Given the description of an element on the screen output the (x, y) to click on. 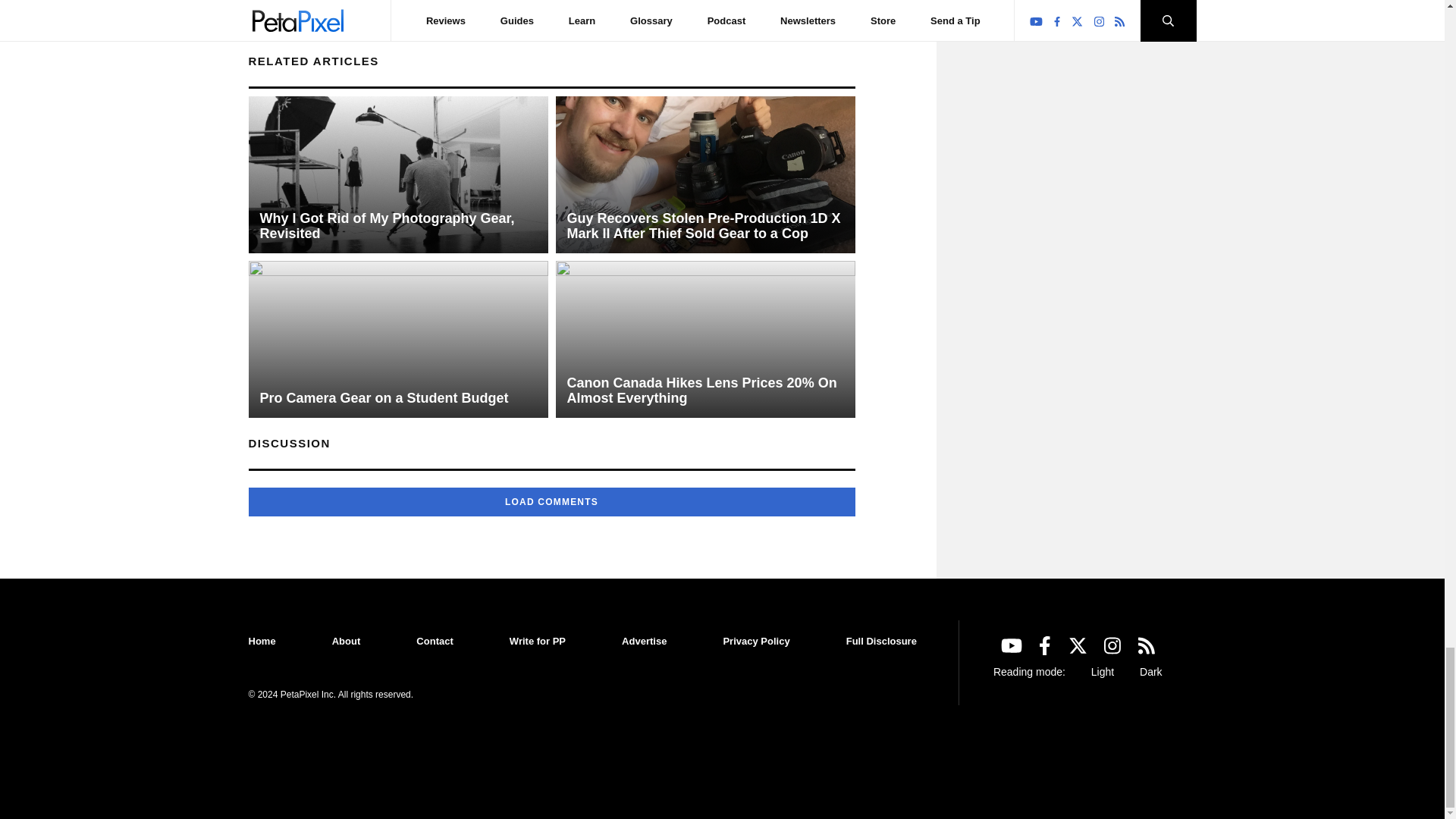
Why I Got Rid of My Photography Gear, Revisited (398, 174)
